Given the description of an element on the screen output the (x, y) to click on. 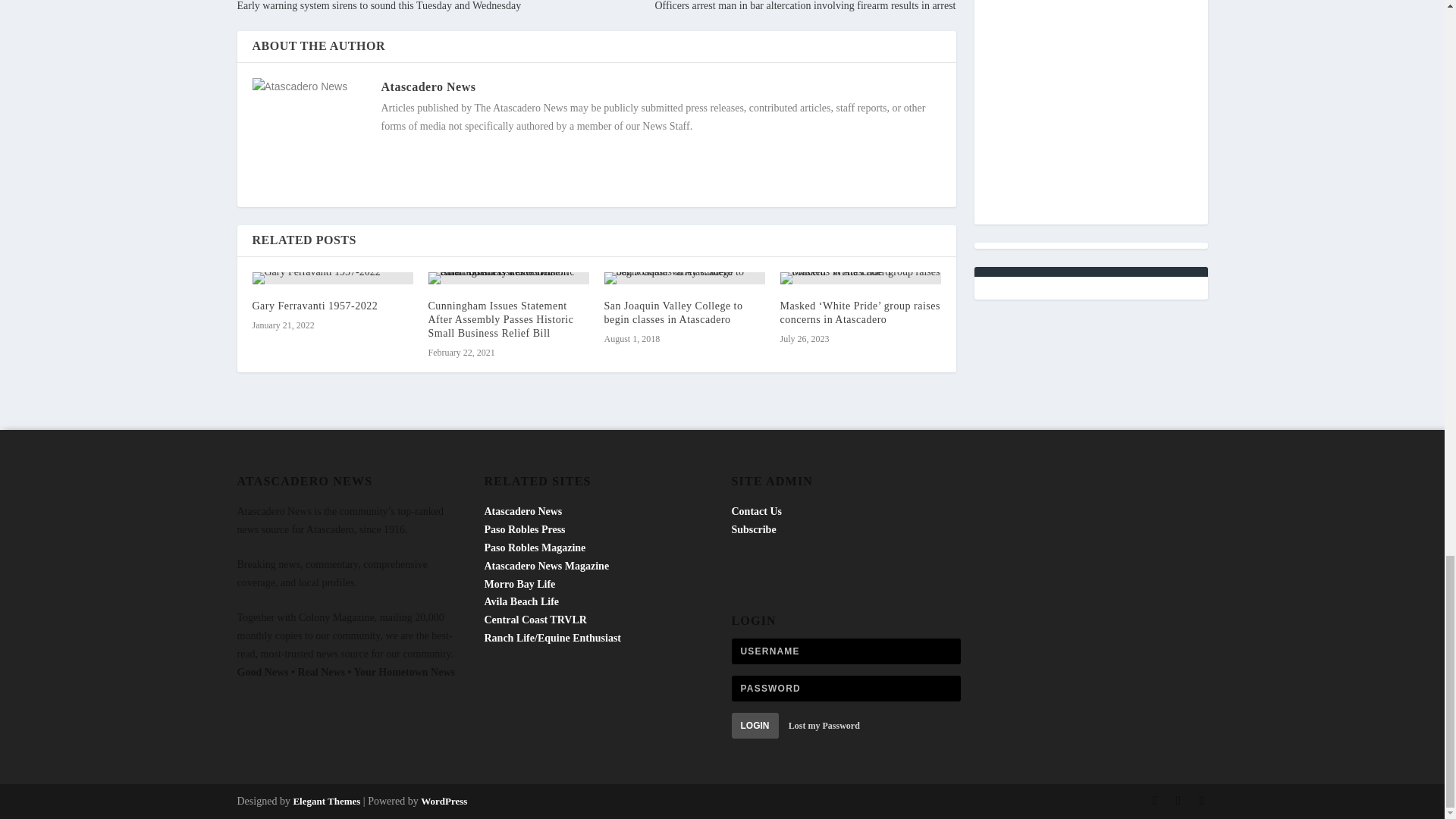
Gary Ferravanti 1957-2022 (314, 306)
View all posts by Atascadero News (428, 86)
Gary Ferravanti 1957-2022 (331, 277)
San Joaquin Valley College to begin classes in Atascadero (684, 277)
San Joaquin Valley College to begin classes in Atascadero (673, 312)
Atascadero News (428, 86)
